Given the description of an element on the screen output the (x, y) to click on. 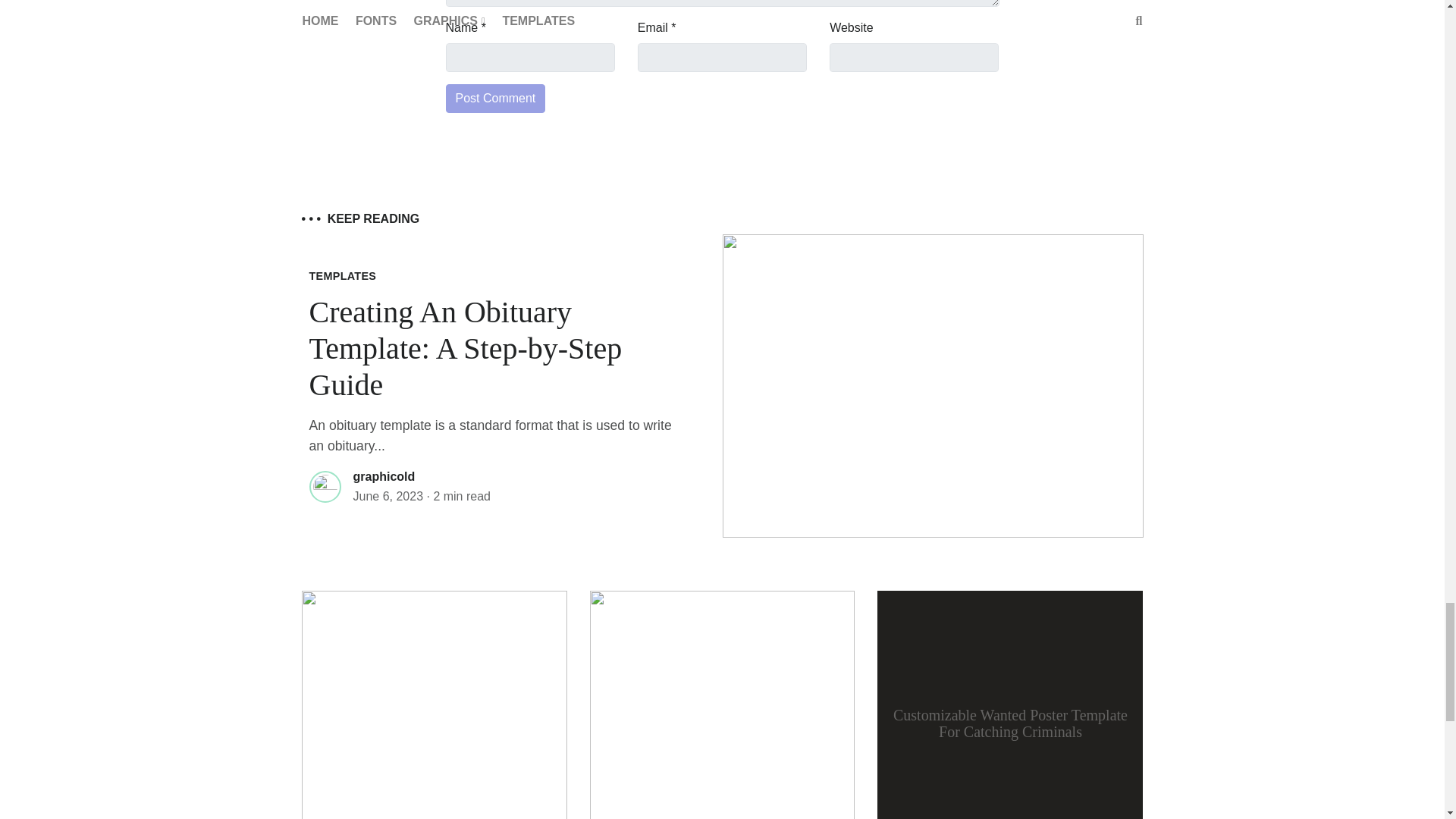
Post Comment (495, 98)
Post Comment (495, 98)
Creating An Obituary Template: A Step-by-Step Guide (465, 348)
Posts by graphicold (383, 476)
TEMPLATES (342, 275)
